Given the description of an element on the screen output the (x, y) to click on. 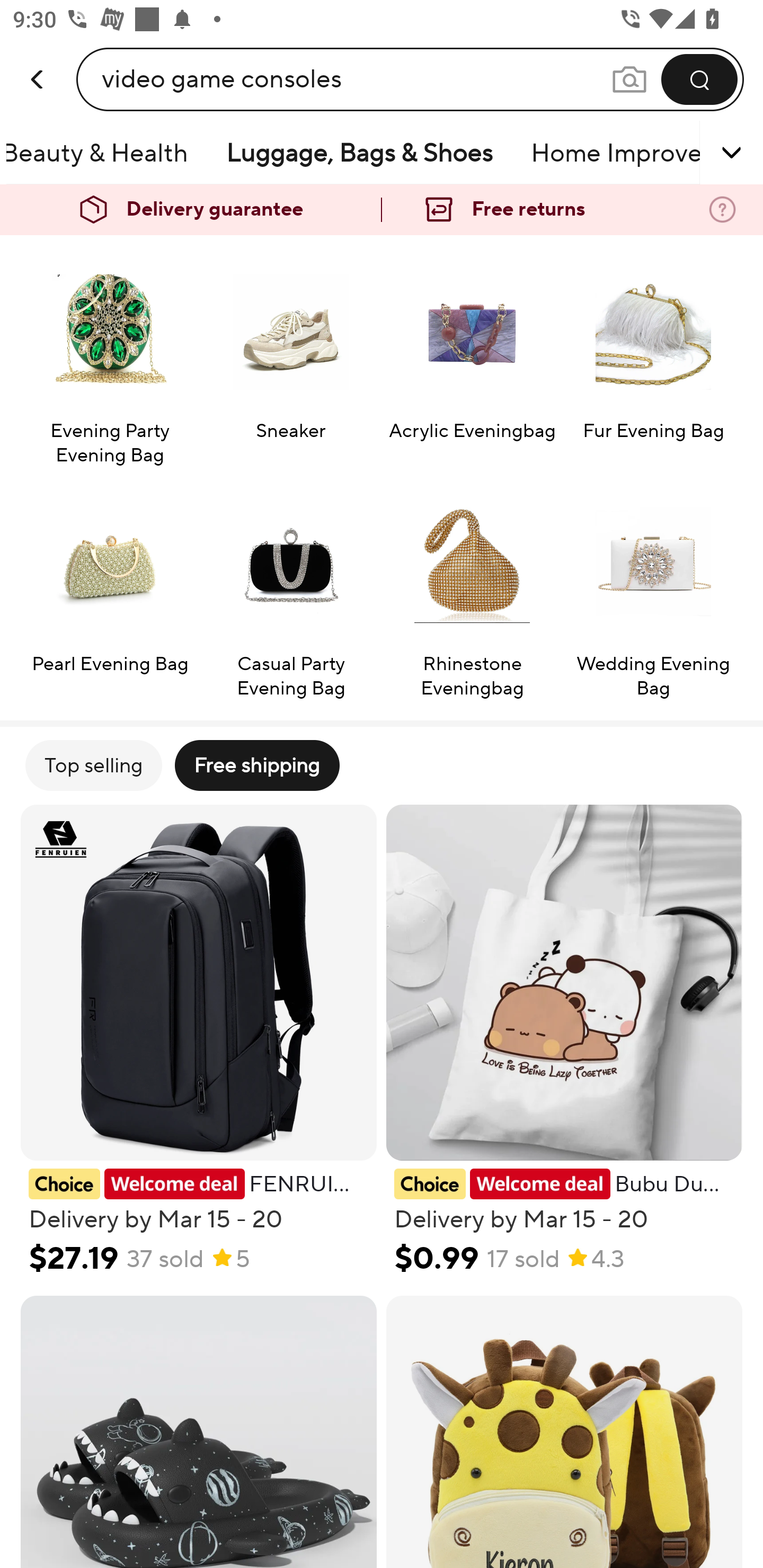
back  (38, 59)
video game consoles Search query (355, 79)
Beauty & Health (106, 152)
Home Improvement & Lighting (611, 152)
 (705, 152)
Delivery guarantee Free returns (381, 210)
Evening Party Evening Bag (109, 357)
Sneaker (290, 357)
Acrylic Eveningbag (471, 357)
Fur Evening Bag (653, 357)
Pearl Evening Bag (109, 590)
Casual Party Evening Bag (290, 590)
Rhinestone Eveningbag (471, 590)
Wedding Evening Bag (653, 590)
Top selling (93, 765)
Free shipping (256, 765)
